Given the description of an element on the screen output the (x, y) to click on. 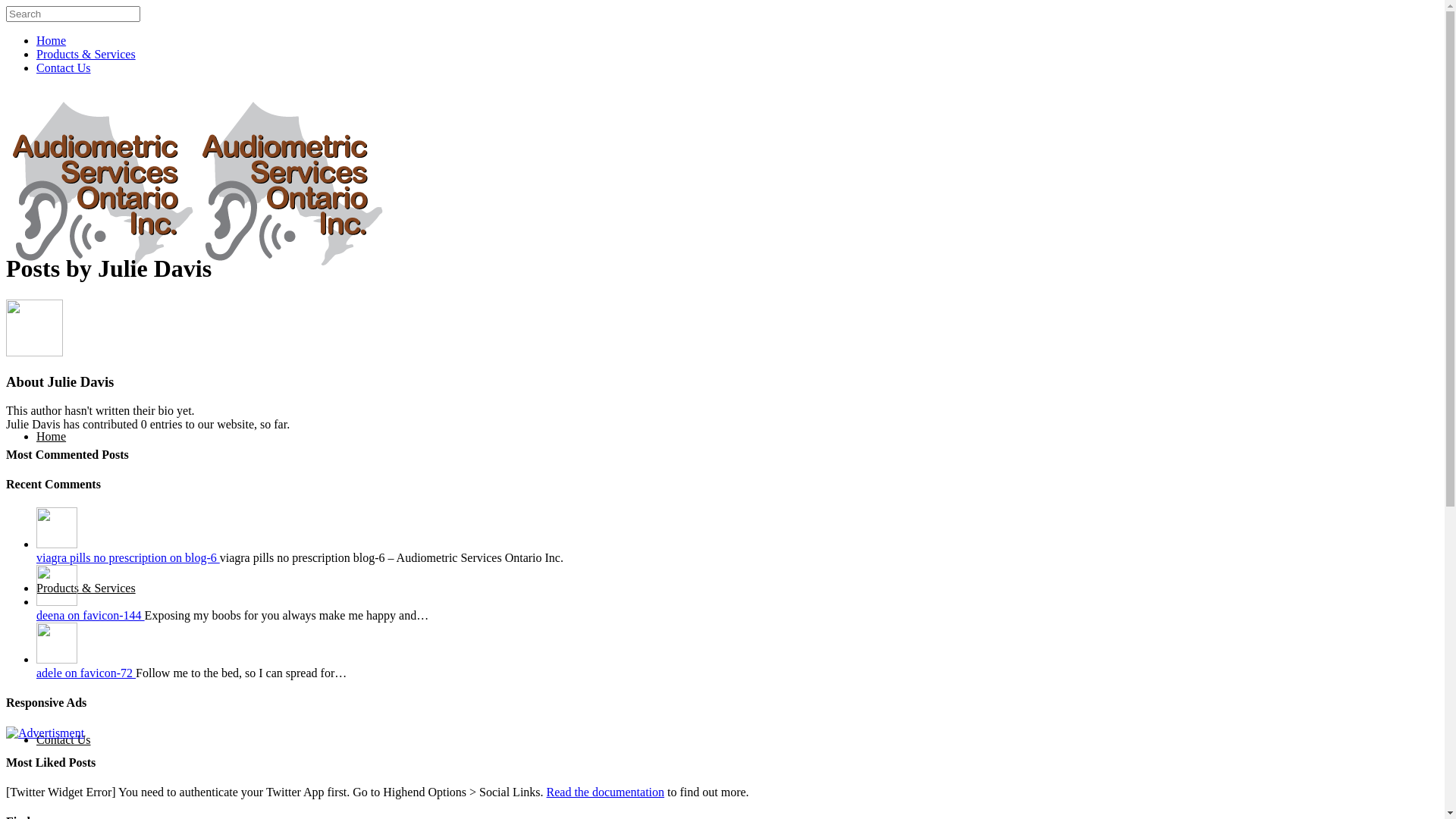
Products & Services Element type: text (85, 587)
Home Element type: text (50, 435)
Products & Services Element type: text (85, 53)
viagra pills no prescription on blog-6 Element type: text (127, 557)
adele on favicon-72 Element type: text (85, 672)
Home Element type: text (50, 40)
Contact Us Element type: text (63, 67)
deena on favicon-144 Element type: text (90, 614)
Contact Us Element type: text (63, 739)
Read the documentation Element type: text (605, 791)
